Given the description of an element on the screen output the (x, y) to click on. 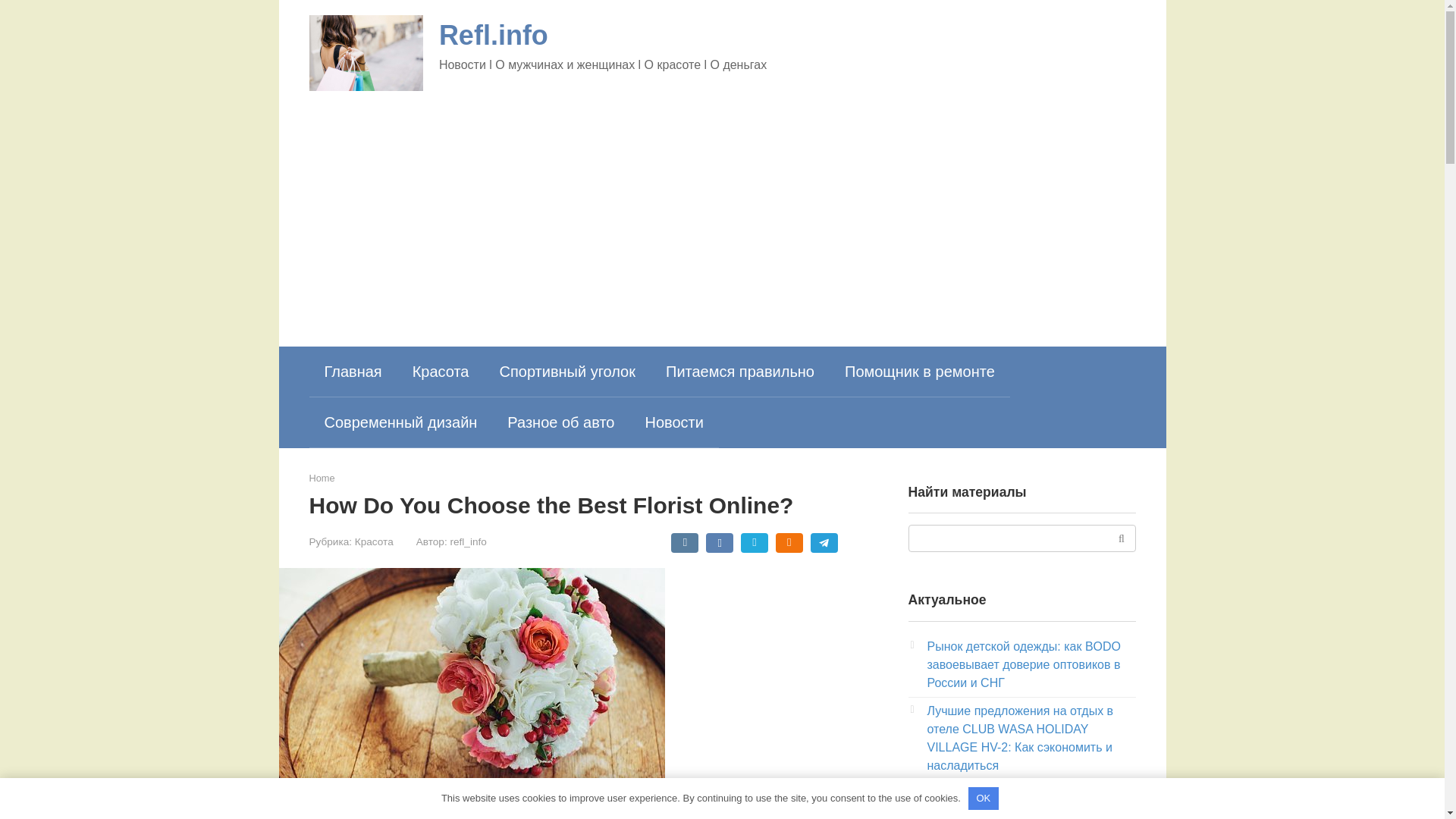
Home (321, 478)
Refl.info (493, 34)
